Given the description of an element on the screen output the (x, y) to click on. 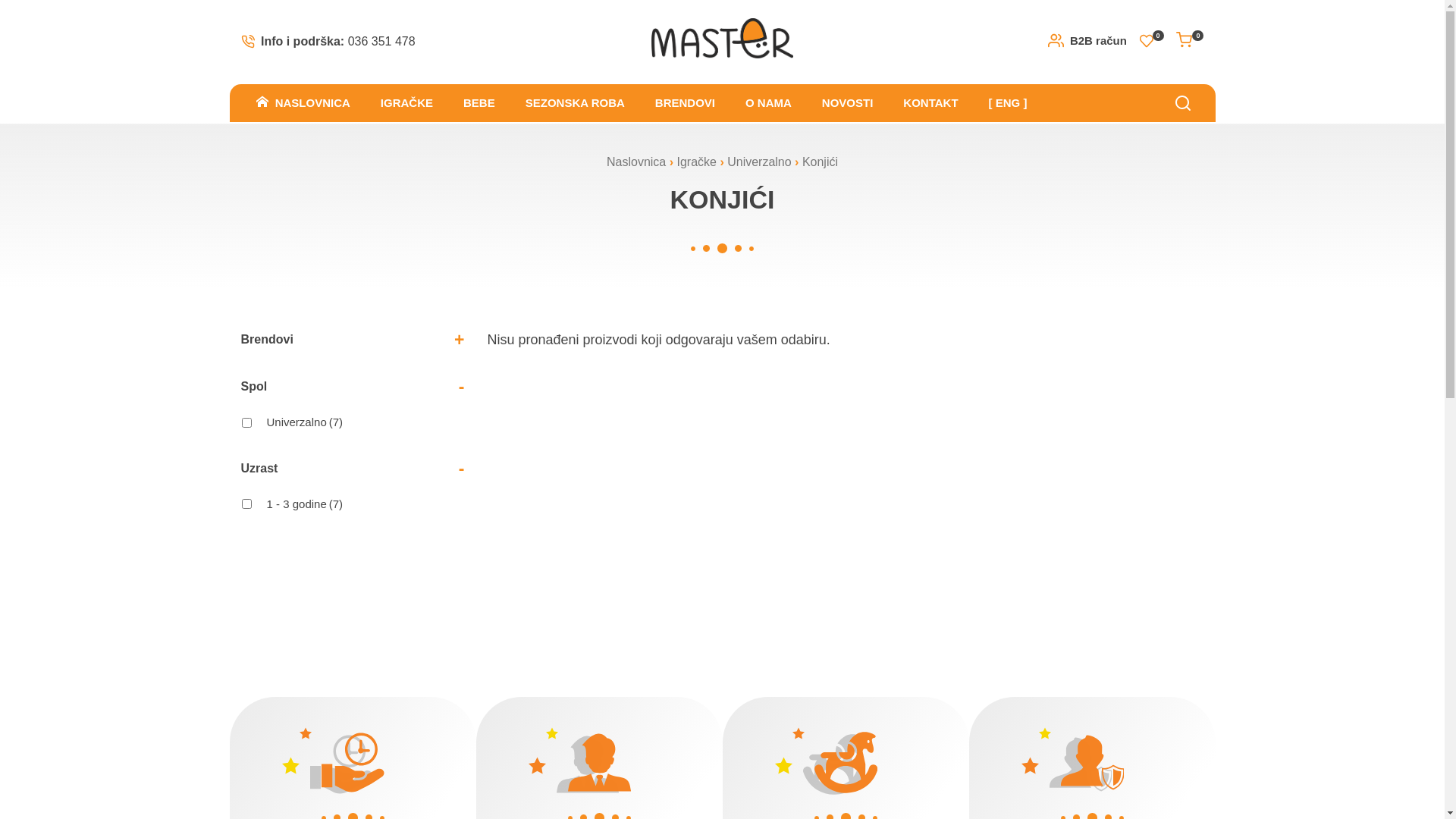
BEBE Element type: text (479, 103)
NASLOVNICA Element type: text (303, 103)
[ ENG ] Element type: text (1007, 103)
0 Element type: text (1189, 40)
Univerzalno Element type: text (758, 161)
O NAMA Element type: text (768, 103)
NOVOSTI Element type: text (847, 103)
- Element type: text (461, 468)
Naslovnica Element type: text (635, 161)
036 351 478 Element type: text (381, 40)
- Element type: text (461, 386)
BRENDOVI Element type: text (685, 103)
MASTER d.o.o. Mostar Element type: hover (722, 38)
KONTAKT Element type: text (930, 103)
SEZONSKA ROBA Element type: text (575, 103)
+ Element type: text (459, 339)
